Given the description of an element on the screen output the (x, y) to click on. 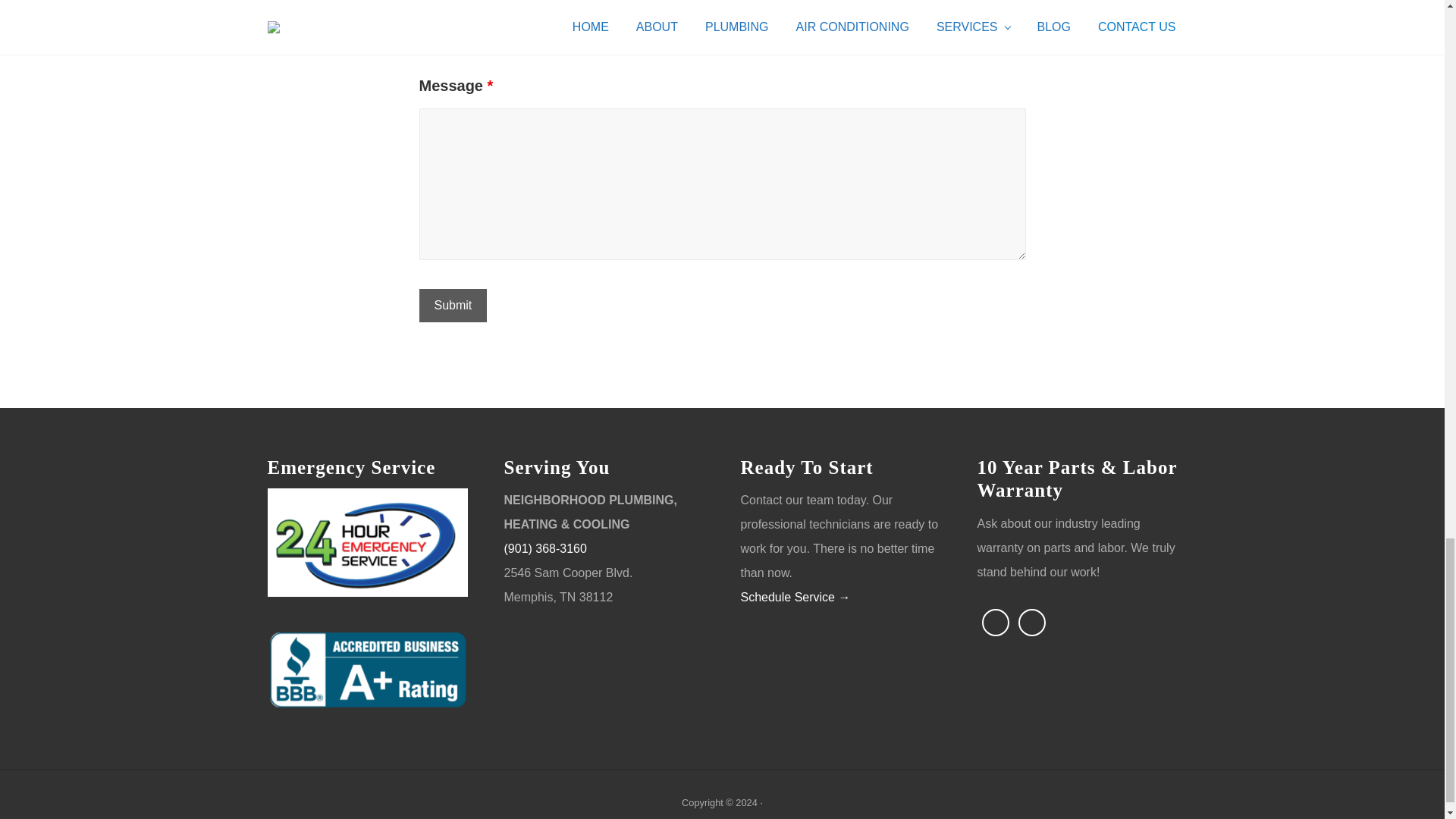
Submit (452, 305)
